Given the description of an element on the screen output the (x, y) to click on. 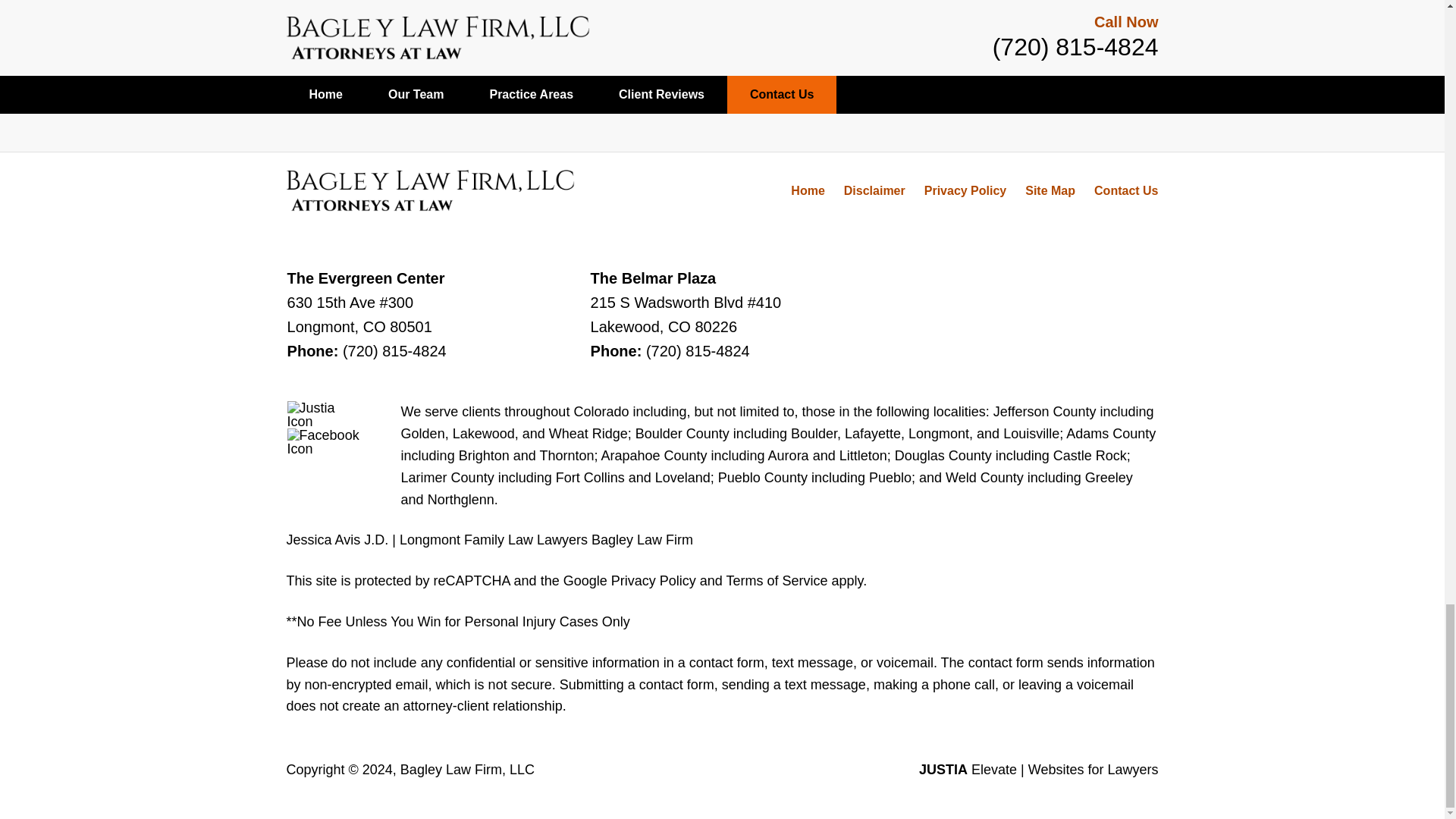
Bagley Law Firm, LLC (467, 769)
Facebook (323, 441)
Home (807, 190)
Contact Us (1125, 190)
Google Privacy Policy (629, 580)
Disclaimer (874, 190)
Justia (323, 414)
Site Map (1050, 190)
Terms of Service (776, 580)
Contact Us Now (950, 25)
